Given the description of an element on the screen output the (x, y) to click on. 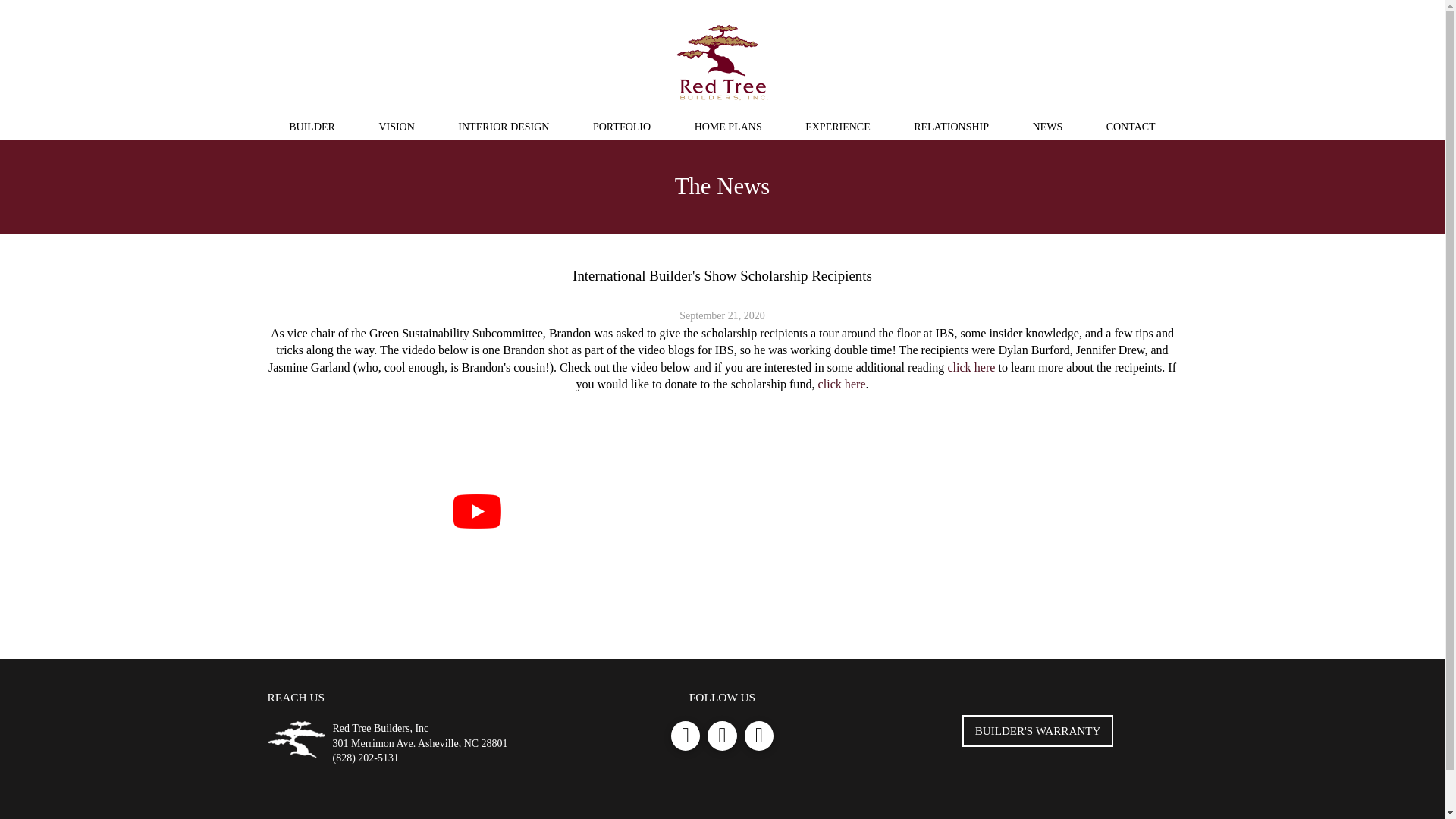
EXPERIENCE (837, 126)
click here (970, 367)
click here (842, 383)
INTERIOR DESIGN (503, 126)
NEWS (1047, 126)
BUILDER (312, 126)
HOME PLANS (727, 126)
VISION (396, 126)
CONTACT (1130, 126)
PORTFOLIO (621, 126)
